Given the description of an element on the screen output the (x, y) to click on. 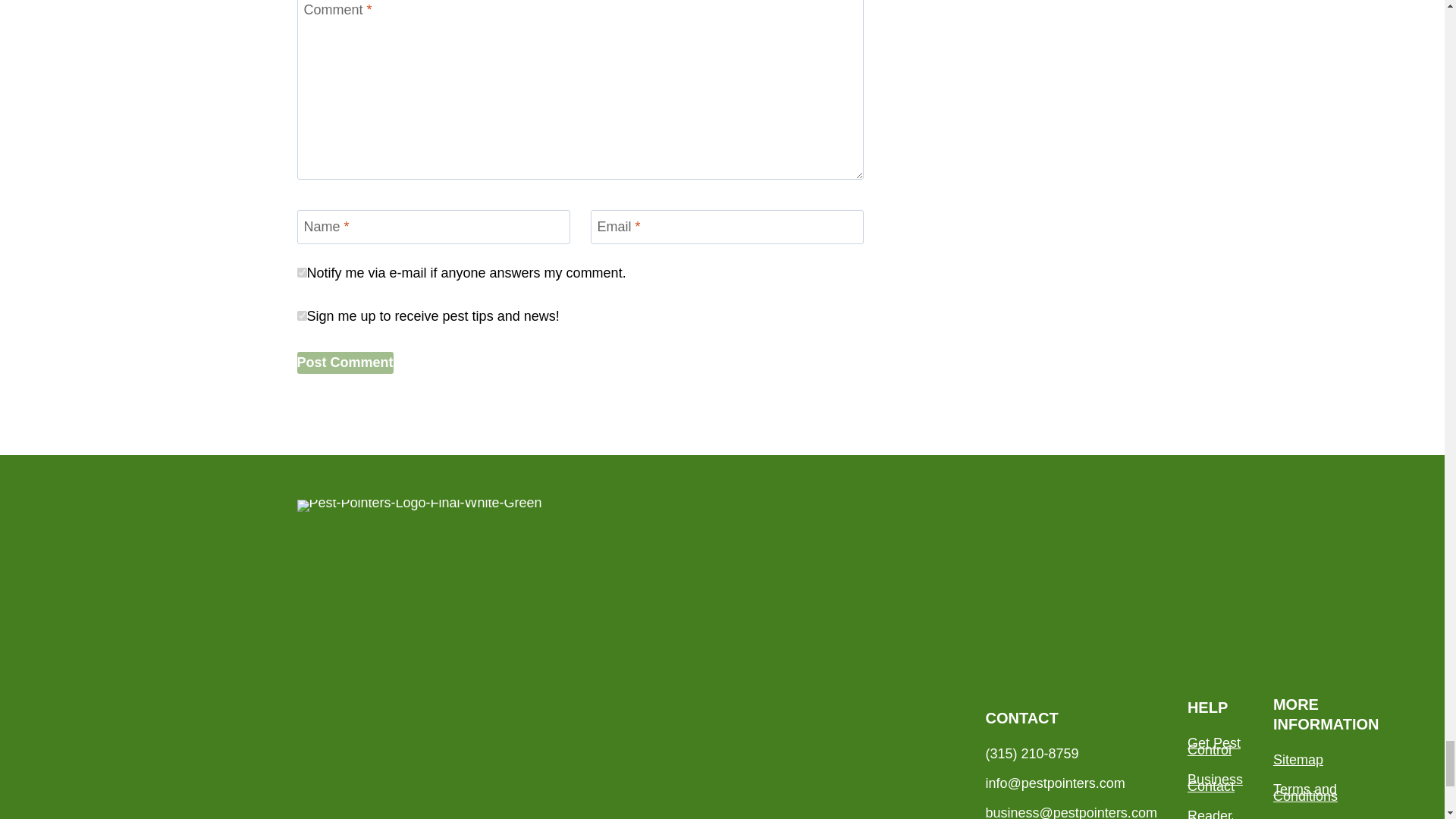
1 (302, 316)
on (302, 272)
Post Comment (345, 362)
